Given the description of an element on the screen output the (x, y) to click on. 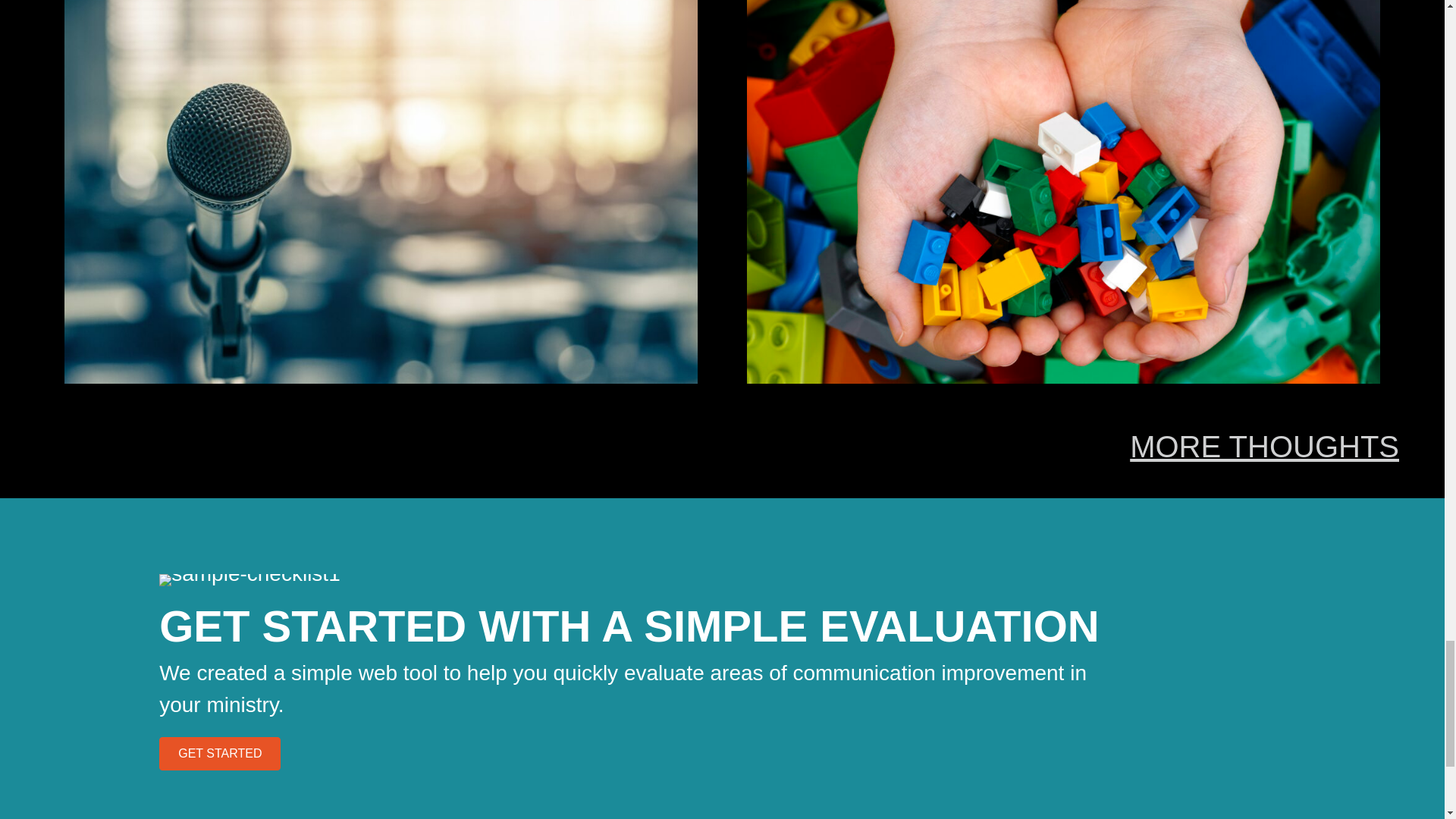
MORE THOUGHTS (1264, 446)
The Power of Owning Our Mistakes (1063, 170)
GET STARTED (219, 753)
More Thoughts (1264, 446)
Embracing Our Unique Calling (380, 170)
sample-checklist1 (249, 580)
